Given the description of an element on the screen output the (x, y) to click on. 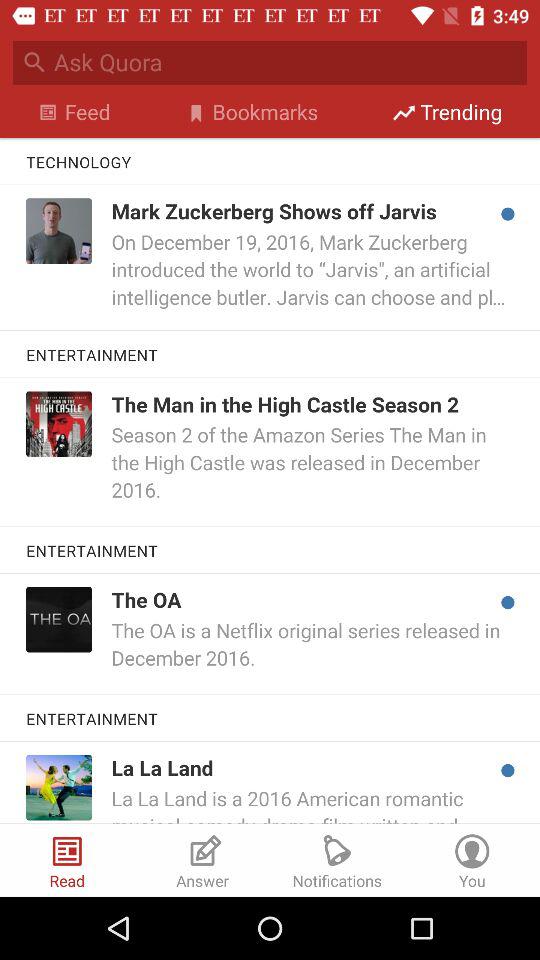
click on text field (290, 63)
click on search icon (35, 62)
click on the last icon (472, 848)
select icon which on left to feed (48, 111)
select the icon on left to the tab trending on the web page (404, 111)
